Given the description of an element on the screen output the (x, y) to click on. 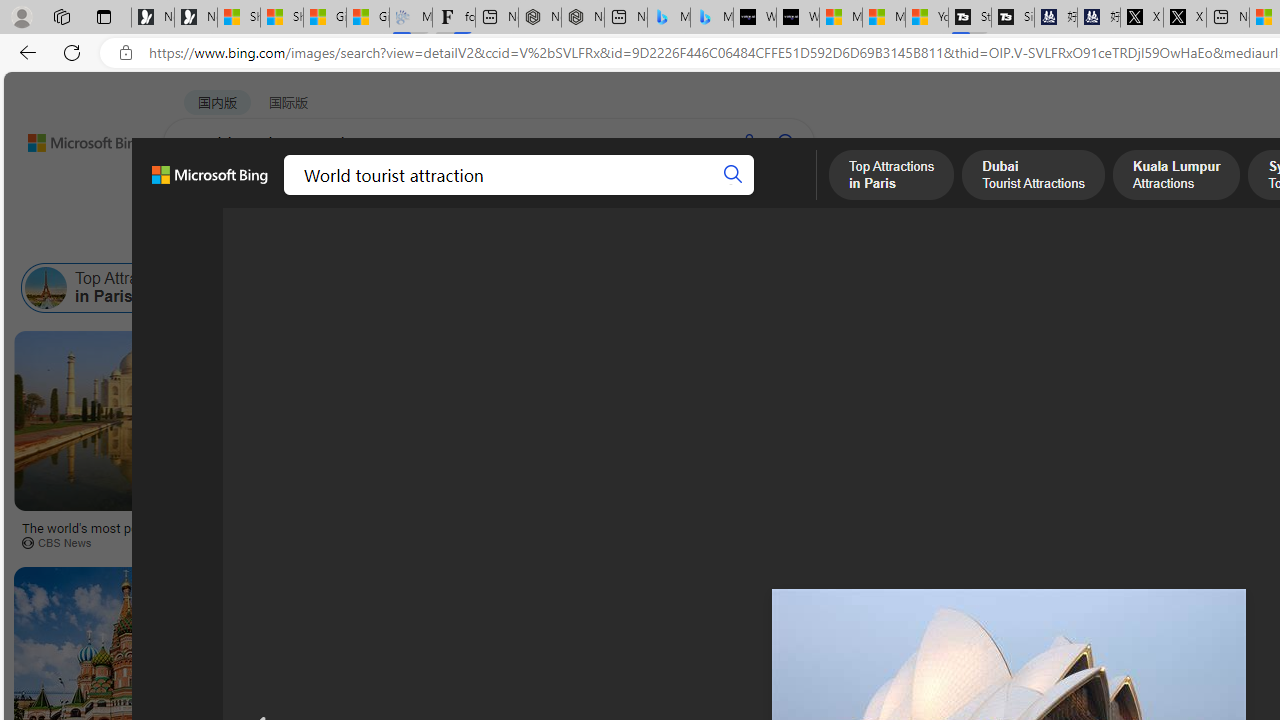
ACADEMIC (548, 195)
Egypt Tourism (846, 287)
Class: item col (1089, 287)
License (665, 237)
Type (373, 237)
karryon.com.au (897, 541)
Gilma and Hector both pose tropical trouble for Hawaii (367, 17)
Search button (732, 174)
WEB (201, 195)
VIDEOS (458, 195)
ACADEMIC (548, 195)
